Given the description of an element on the screen output the (x, y) to click on. 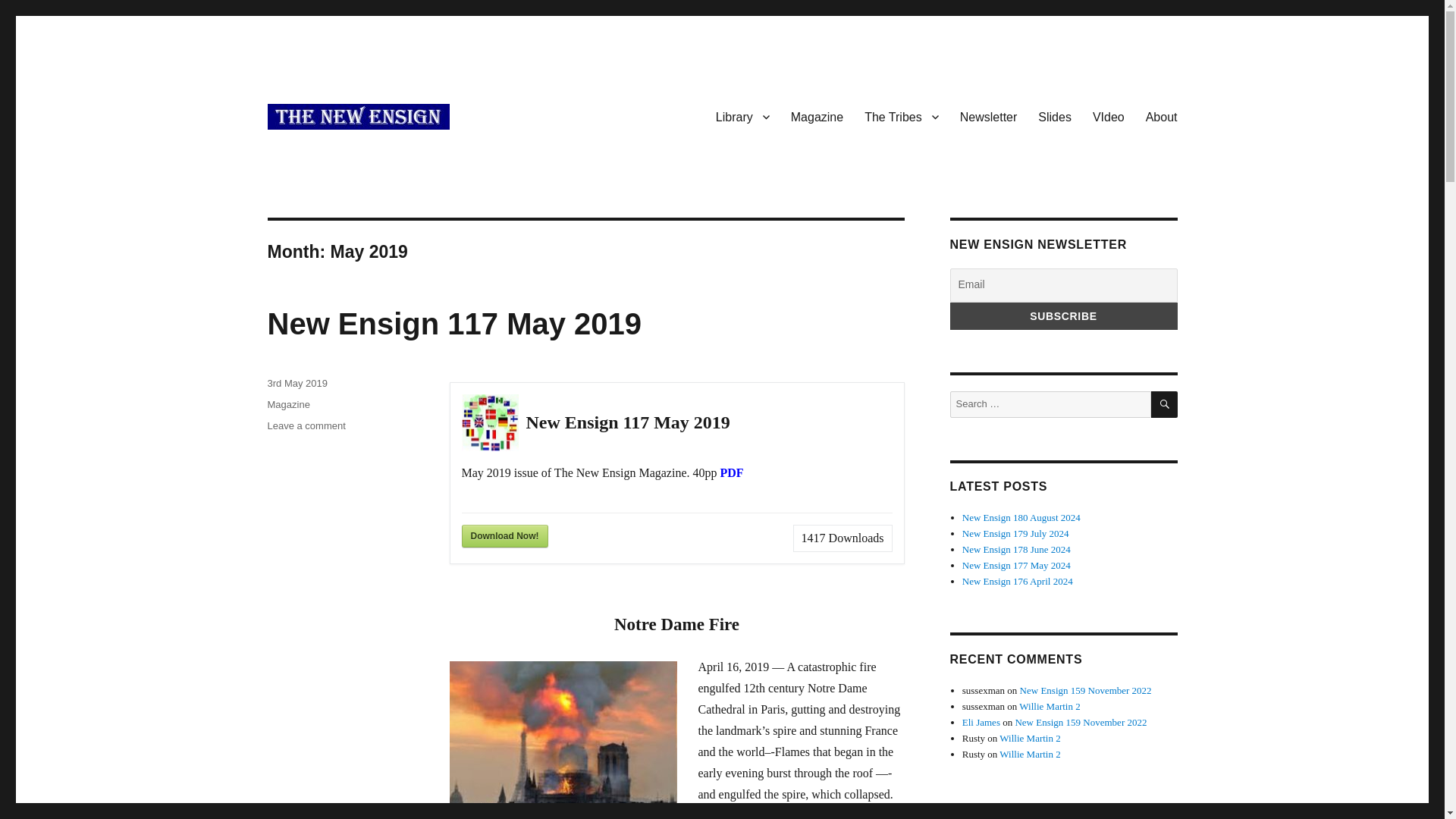
New Ensign 117 May 2019 (504, 535)
Library (742, 116)
Subscribe (1062, 316)
